Given the description of an element on the screen output the (x, y) to click on. 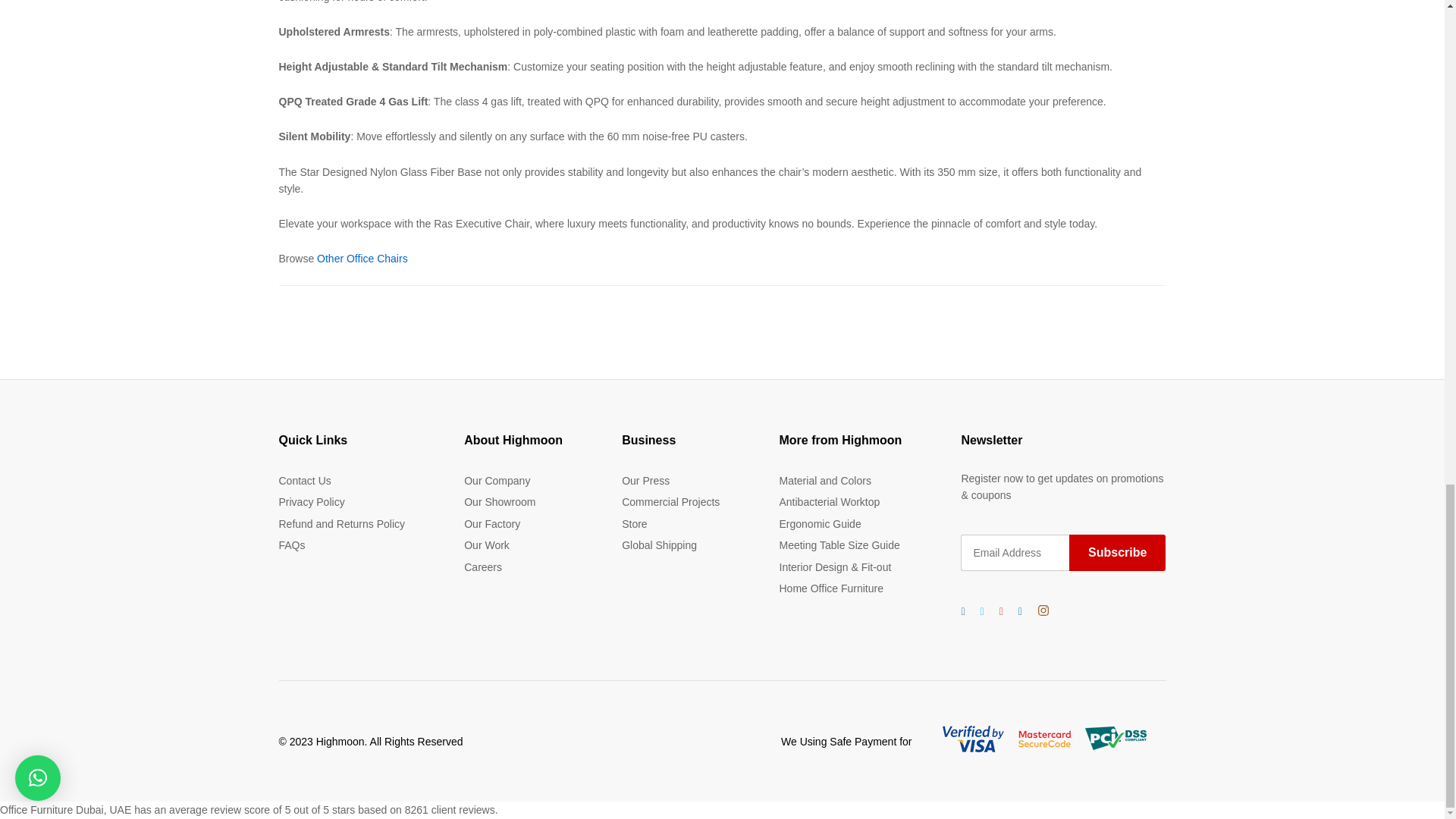
Facebook (962, 610)
Subscribe (1117, 552)
Youtube (1000, 610)
Twitter (981, 610)
